Given the description of an element on the screen output the (x, y) to click on. 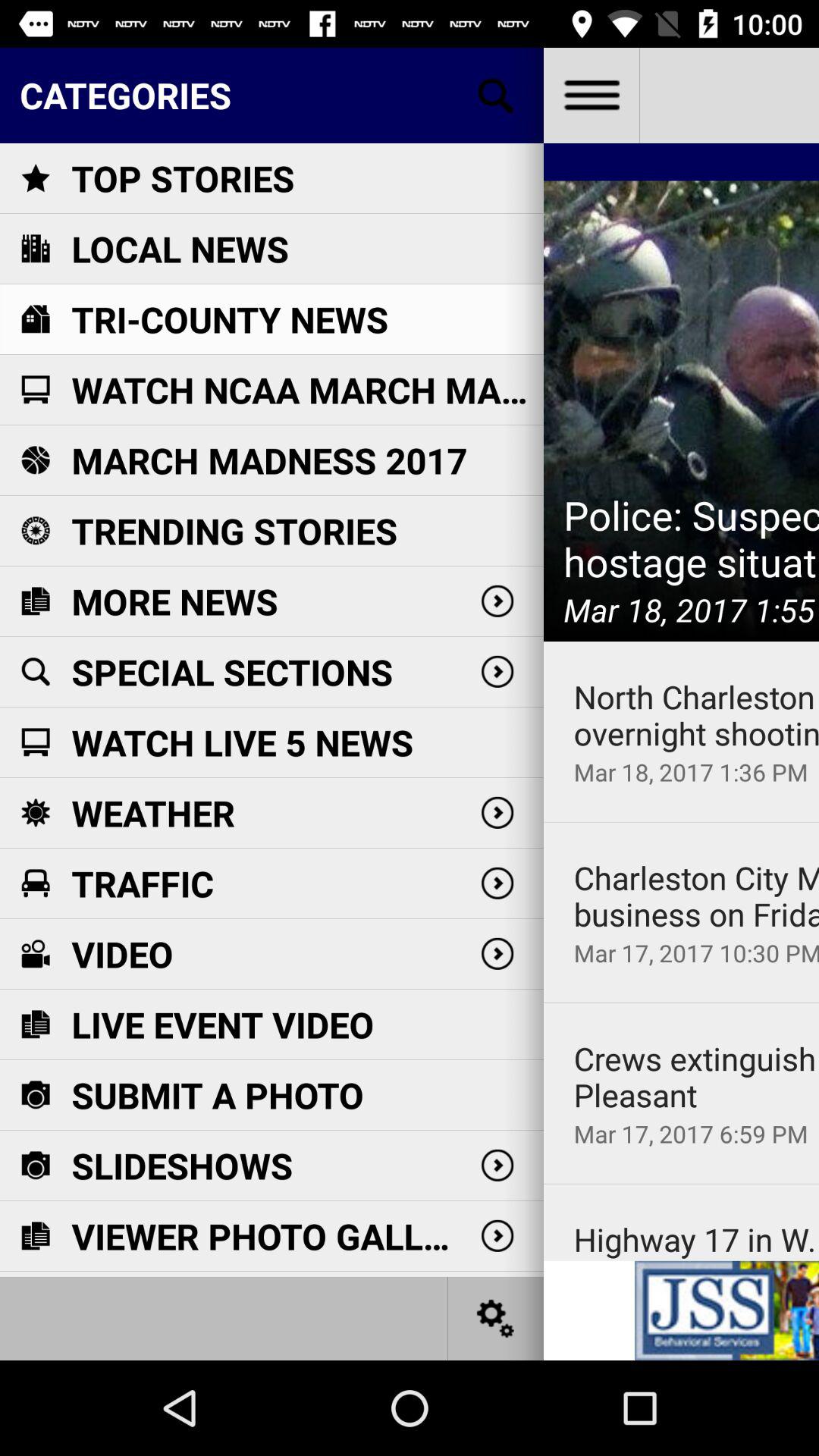
turn off icon below live event video item (217, 1094)
